Given the description of an element on the screen output the (x, y) to click on. 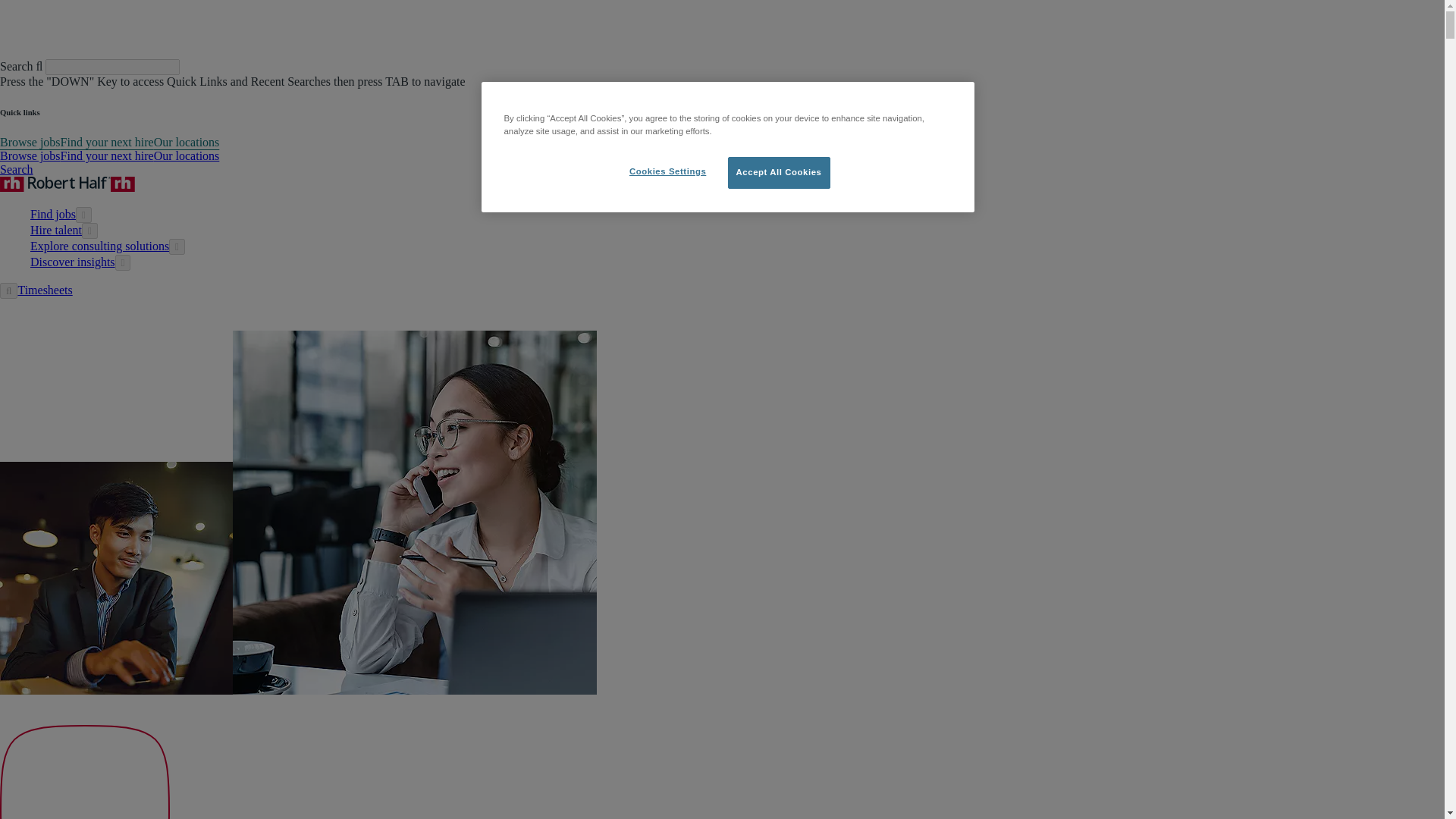
Cookies Settings (667, 172)
Find your next hire (107, 141)
Our locations (186, 141)
Browse jobs (30, 141)
Accept All Cookies (778, 173)
